Given the description of an element on the screen output the (x, y) to click on. 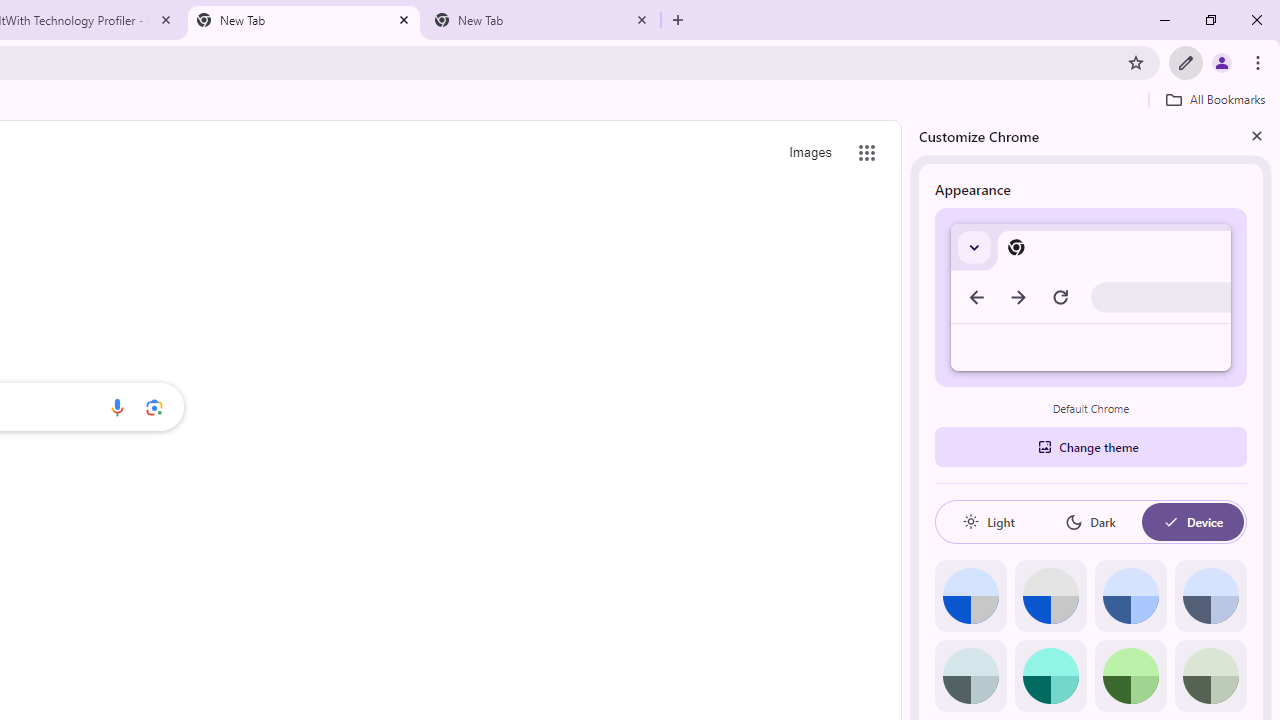
Green (1130, 676)
Device (1192, 521)
Minimize (1165, 20)
You (1221, 62)
Default Chrome (1091, 296)
Chrome (1260, 62)
Blue (1130, 596)
Change theme (1090, 446)
AutomationID: baseSvg (1170, 521)
Search by voice (116, 407)
Viridian (1210, 676)
Default color (970, 596)
Light (988, 521)
